Given the description of an element on the screen output the (x, y) to click on. 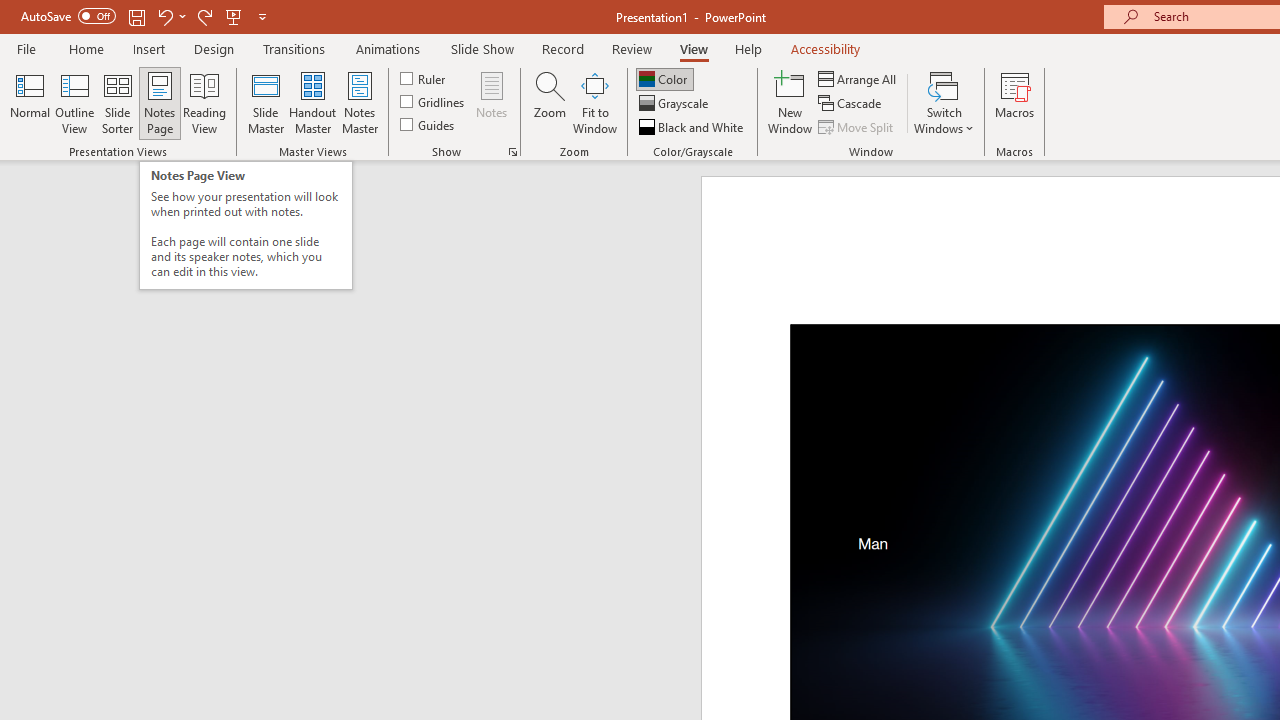
Switch Windows (943, 102)
Handout Master (312, 102)
Outline View (74, 102)
Move Split (857, 126)
Notes Page (159, 102)
Notes (492, 102)
